Given the description of an element on the screen output the (x, y) to click on. 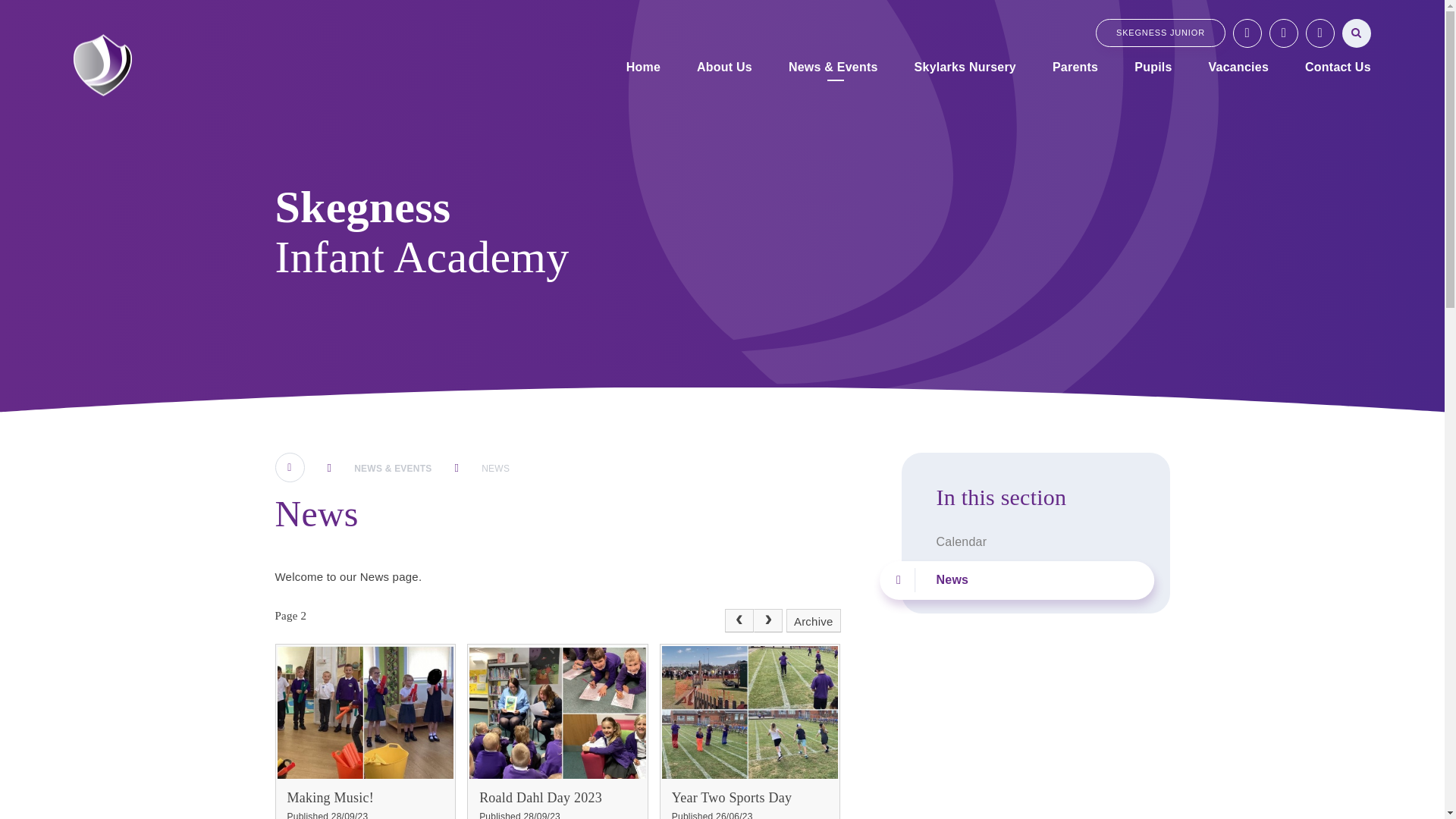
search... (1356, 32)
Search... (1356, 32)
Skegness Infant Academy (103, 64)
Search... (1356, 32)
Twitter (1247, 32)
Home (643, 67)
About Us (724, 67)
